Given the description of an element on the screen output the (x, y) to click on. 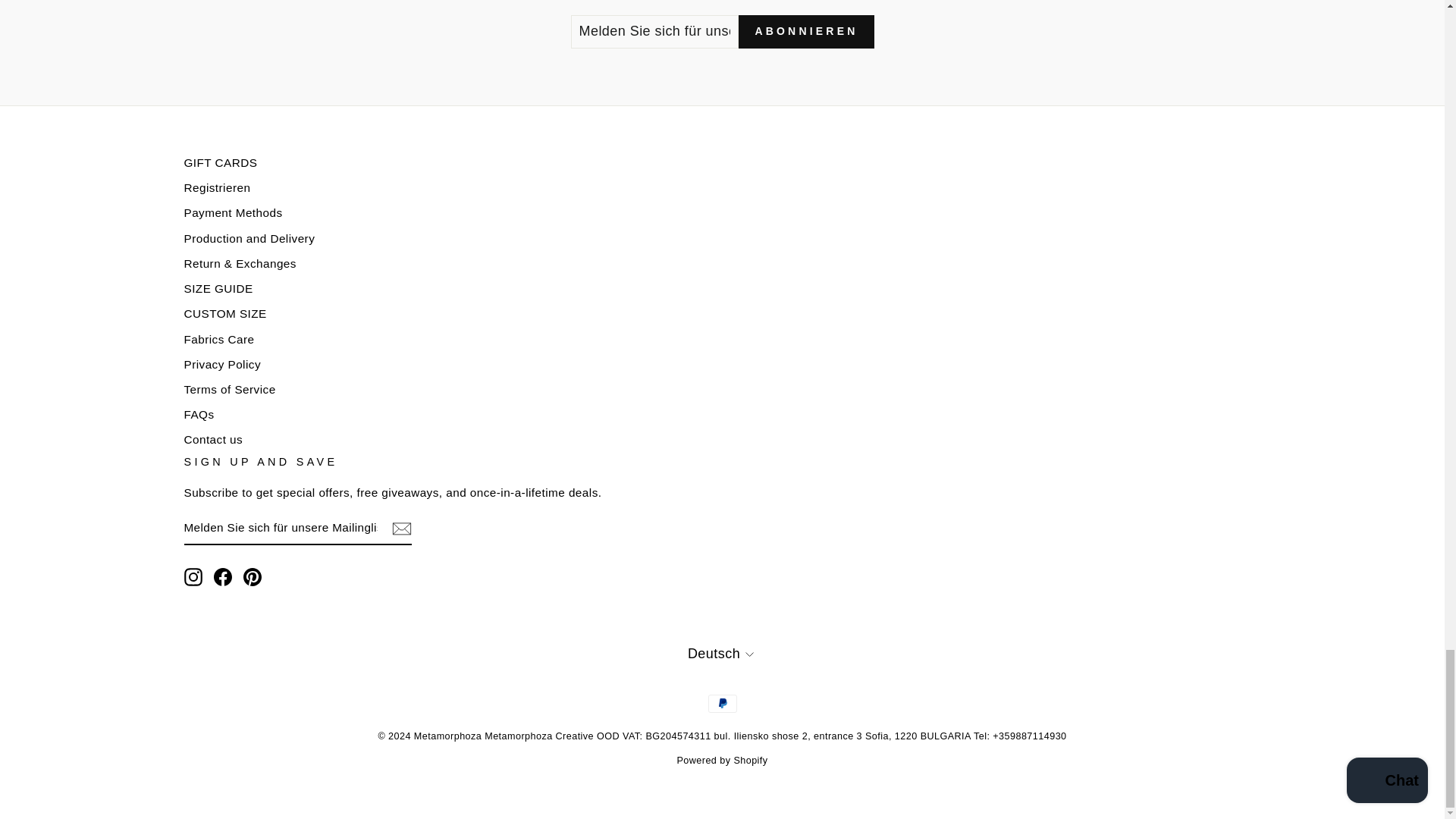
Metamorphoza auf Facebook (222, 577)
Metamorphoza auf Pinterest (251, 577)
Metamorphoza auf Instagram (192, 577)
